Given the description of an element on the screen output the (x, y) to click on. 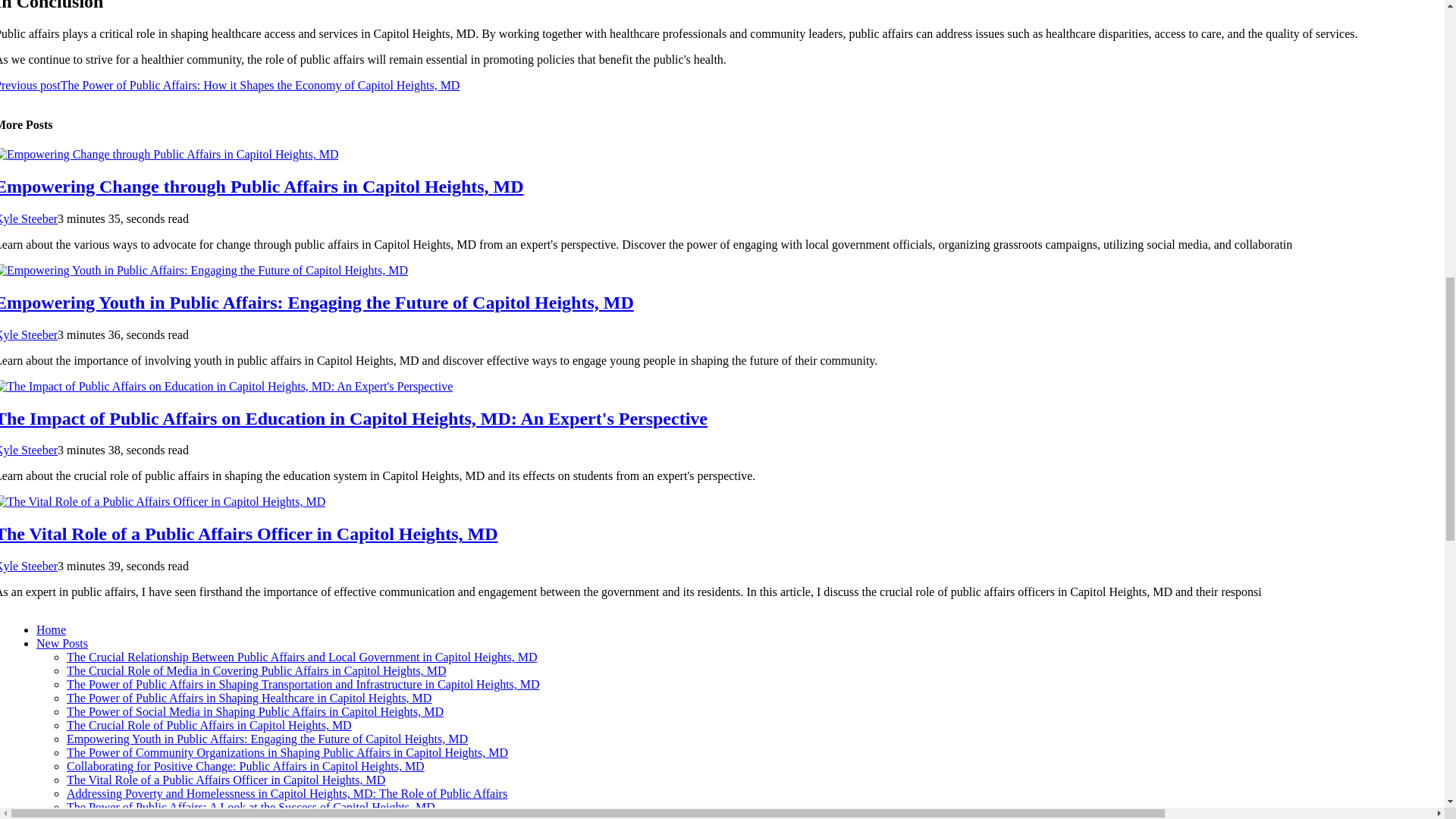
Posts by Kyle Steeber (29, 218)
The Crucial Role of Public Affairs in Capitol Heights, MD (209, 725)
Posts by Kyle Steeber (29, 334)
Kyle Steeber (29, 334)
New Posts (61, 643)
Posts by Kyle Steeber (29, 565)
Posts by Kyle Steeber (29, 449)
